Given the description of an element on the screen output the (x, y) to click on. 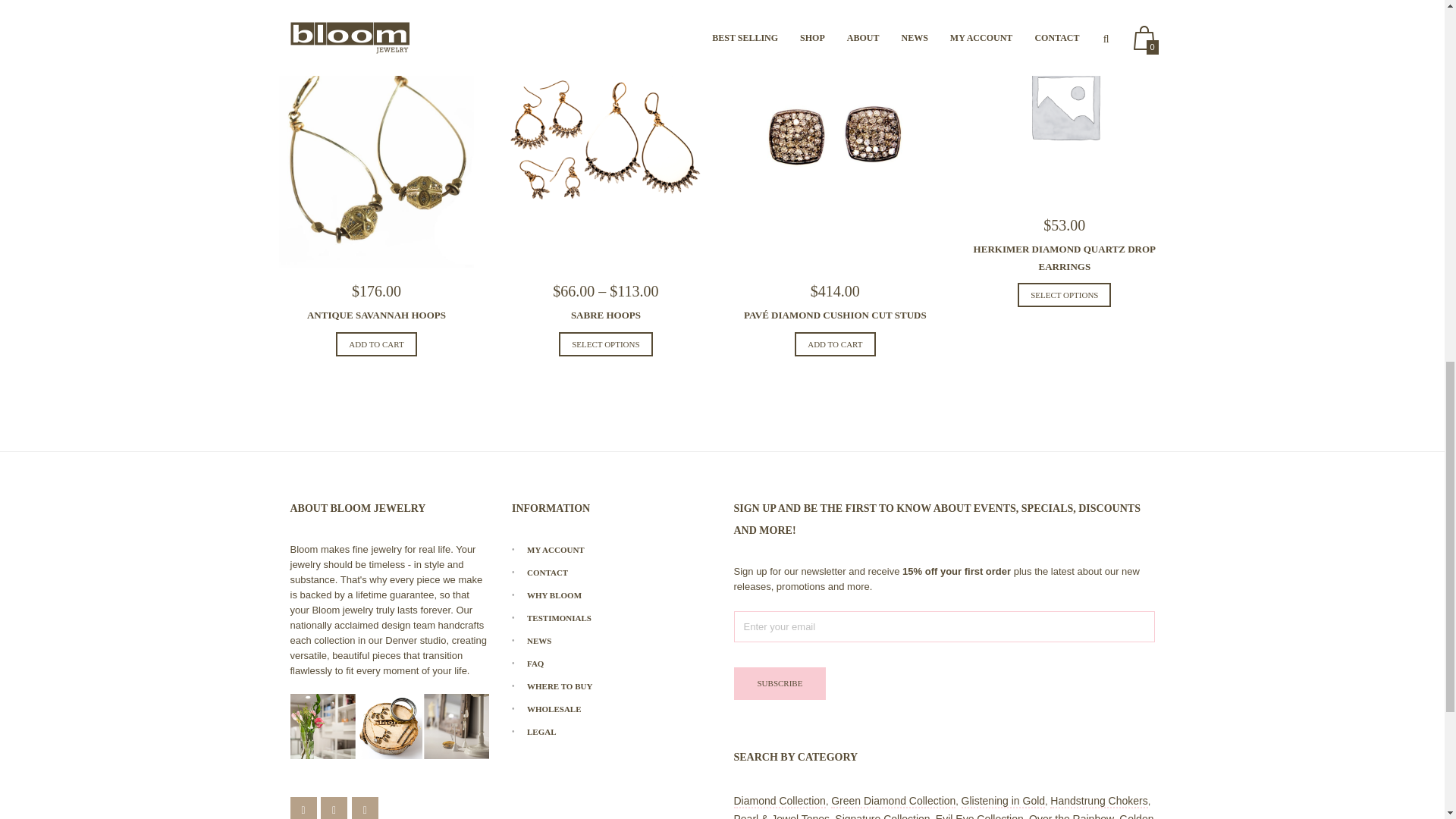
SUBSCRIBE (780, 683)
Handstrung Chokers (1098, 801)
Green Diamond Collection (893, 801)
Diamond Collection (779, 801)
Glistening in Gold (1002, 801)
